Given the description of an element on the screen output the (x, y) to click on. 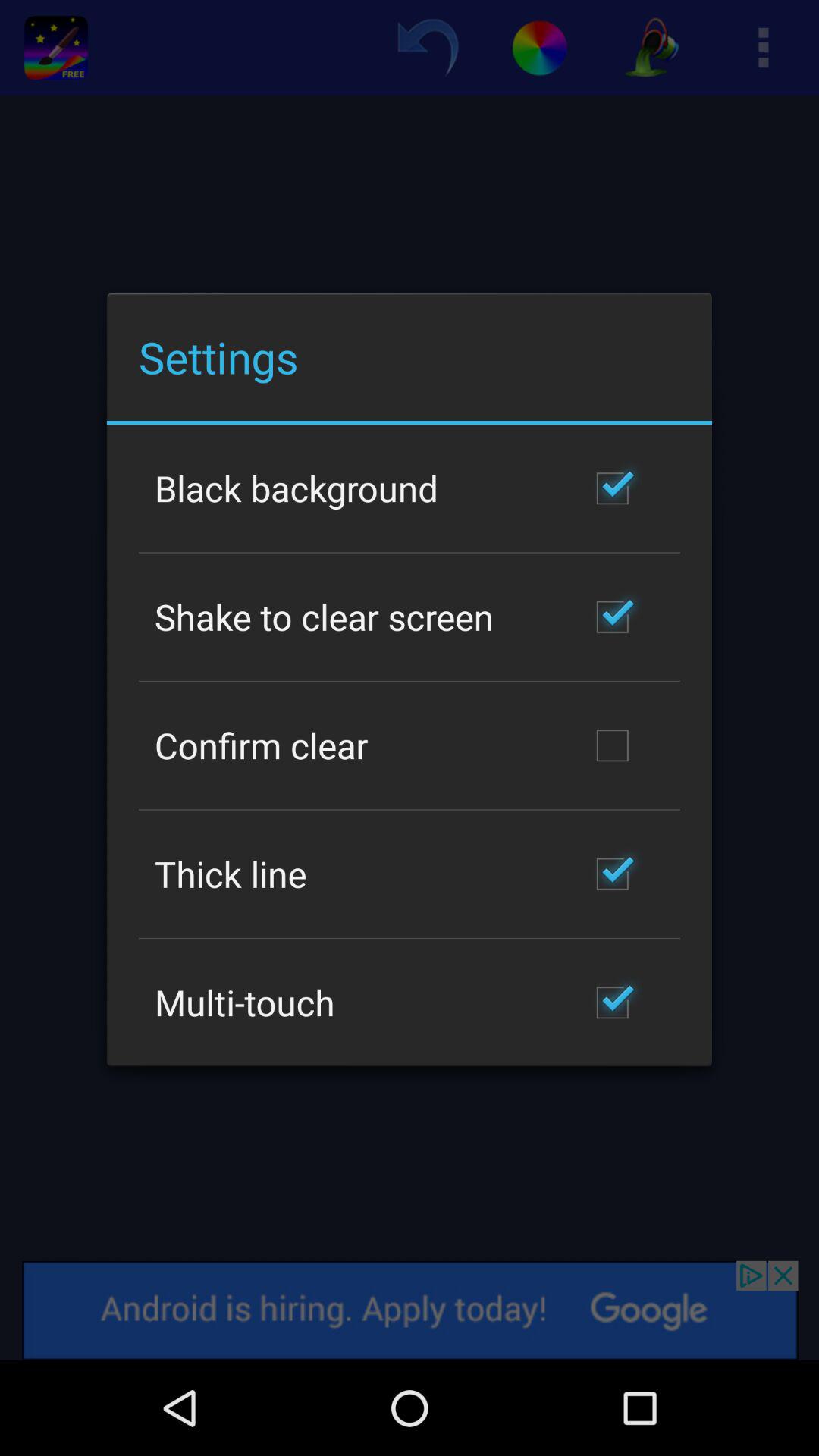
open the app below thick line (244, 1002)
